Given the description of an element on the screen output the (x, y) to click on. 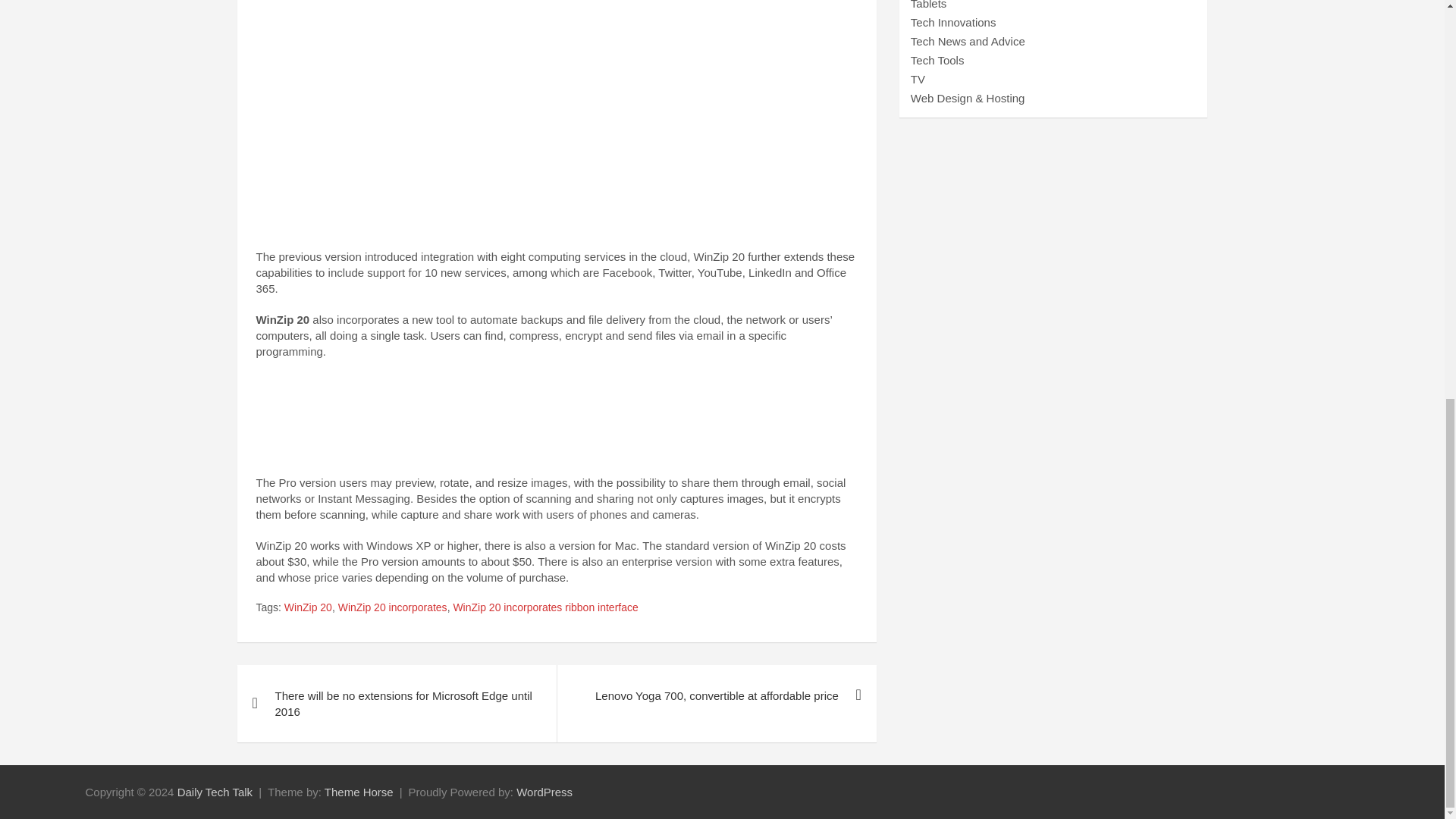
There will be no extensions for Microsoft Edge until 2016 (395, 703)
WinZip 20 incorporates ribbon interface (544, 607)
WordPress (544, 791)
Daily Tech Talk (215, 791)
WinZip 20 (307, 607)
Lenovo Yoga 700, convertible at affordable price (716, 695)
WinZip 20 incorporates (391, 607)
Advertisement (556, 74)
Theme Horse (358, 791)
